Given the description of an element on the screen output the (x, y) to click on. 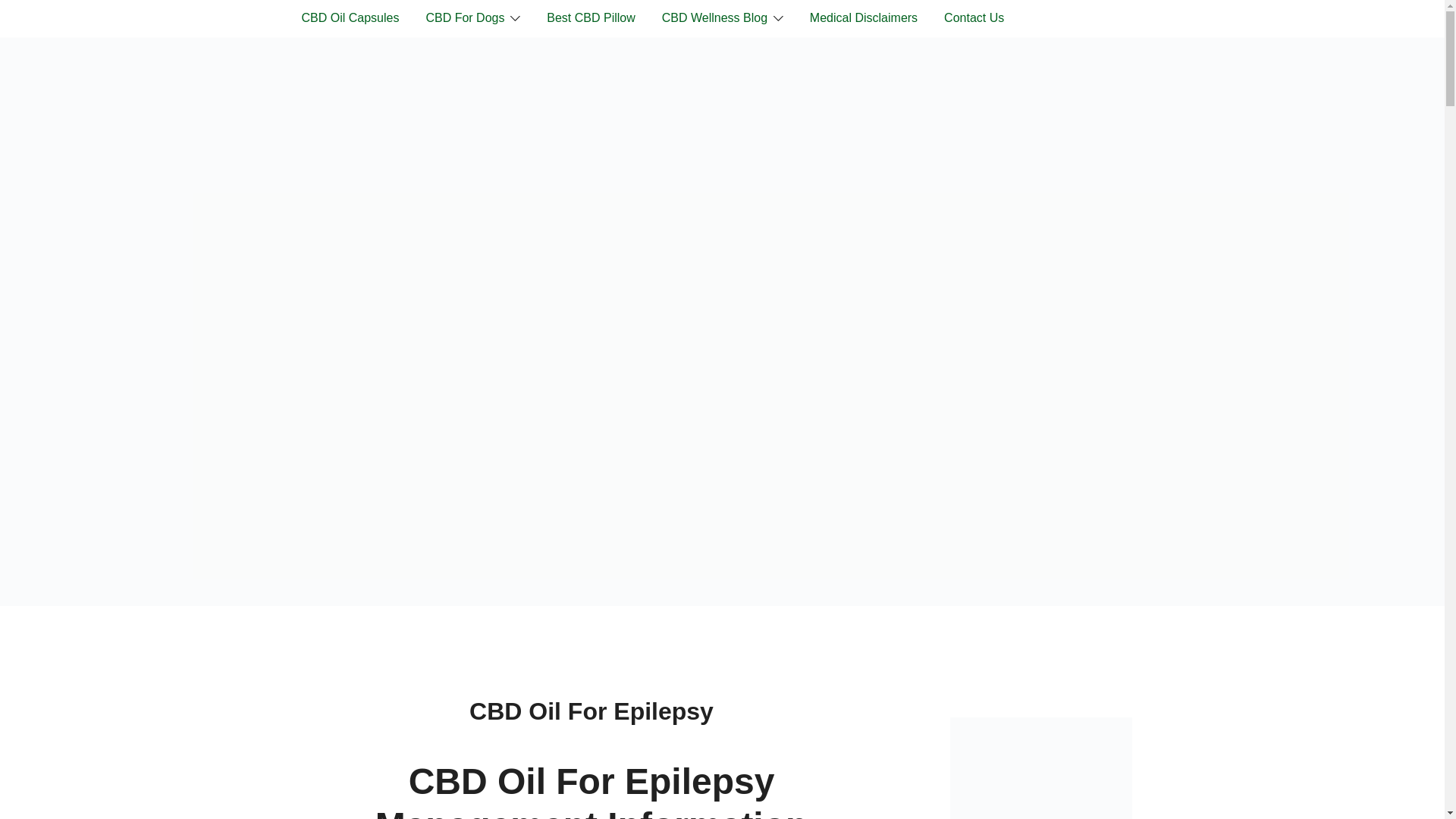
Best CBD Pillow (590, 18)
CBD Oil Capsules (349, 18)
Close sidebar (944, 706)
Medical Disclaimers (863, 18)
Contact Us (973, 18)
CBD For Dogs (464, 18)
CBD Wellness Blog (714, 18)
